Given the description of an element on the screen output the (x, y) to click on. 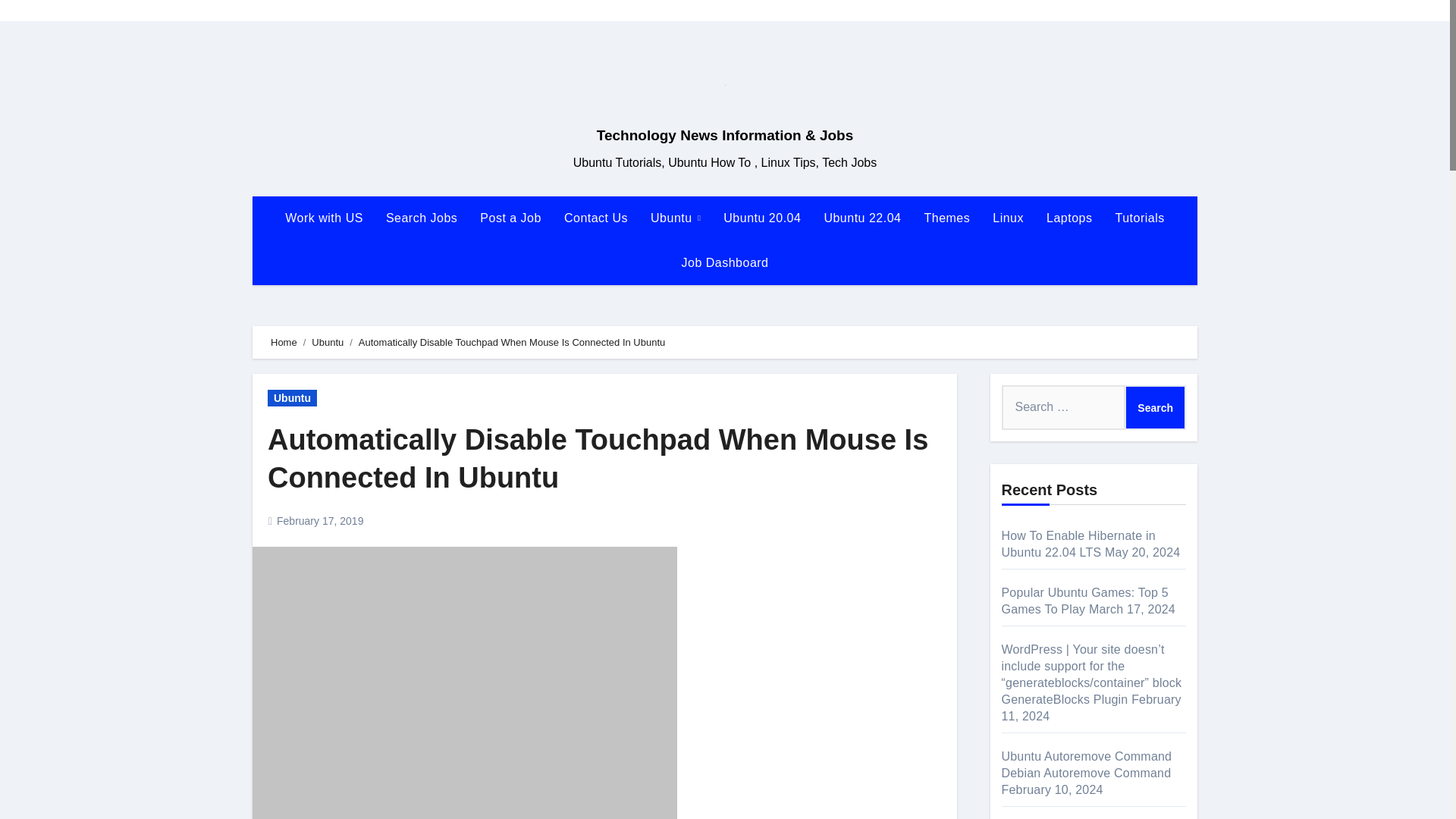
Job Dashboard (723, 262)
Ubuntu (675, 218)
Post a Job (510, 218)
Search Jobs (421, 218)
Contact Us (596, 218)
Tutorials (1138, 218)
Laptops (1069, 218)
Job Dashboard (723, 262)
Themes (946, 218)
Ubuntu 20.04 (761, 218)
